Given the description of an element on the screen output the (x, y) to click on. 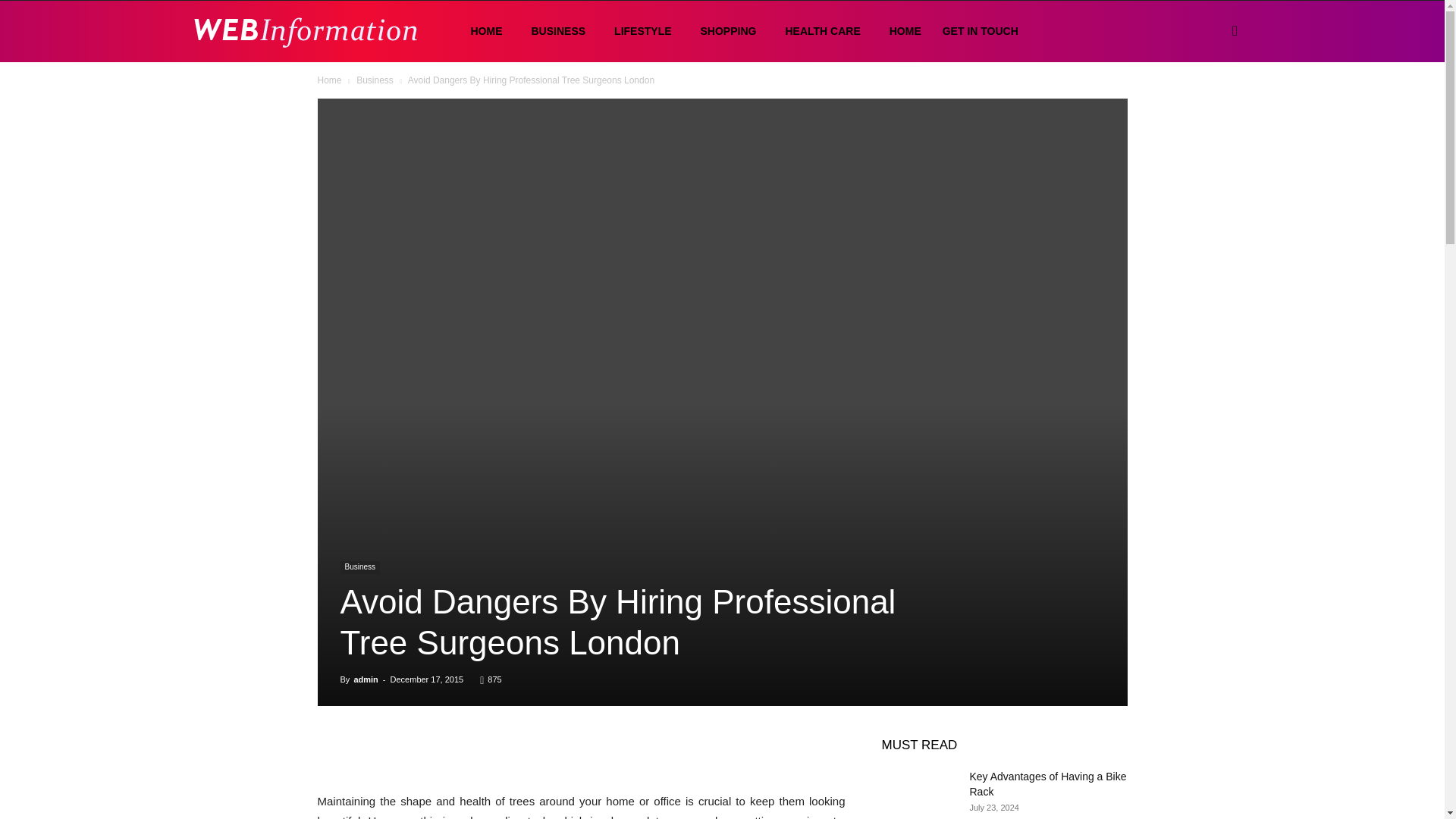
GET IN TOUCH (980, 30)
admin (365, 678)
Web Information (305, 30)
HOME (900, 31)
Business (359, 567)
HEALTH CARE (818, 31)
BUSINESS (553, 31)
SHOPPING (724, 31)
View all posts in Business (374, 80)
HOME (481, 31)
Business (374, 80)
LIFESTYLE (638, 31)
Home (328, 80)
Search (1210, 103)
